Given the description of an element on the screen output the (x, y) to click on. 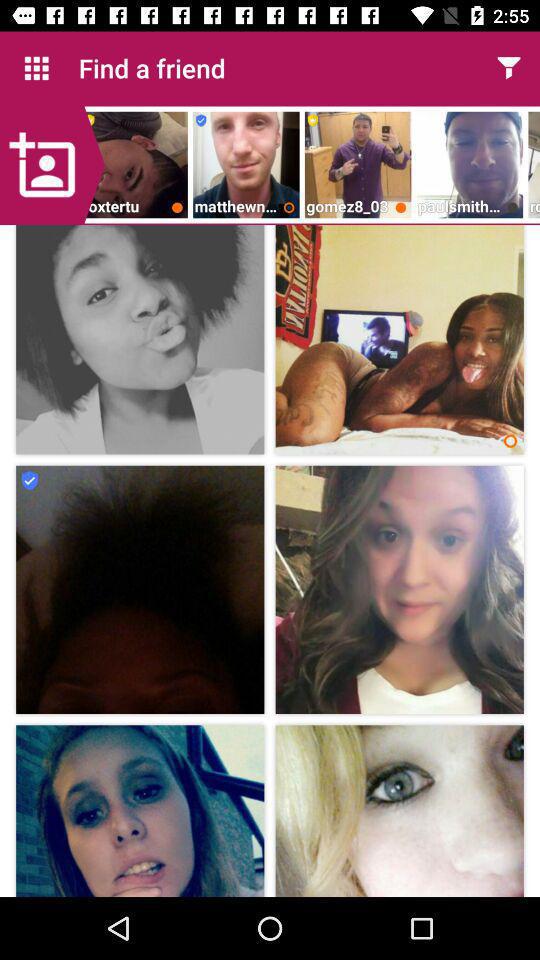
add friend (52, 165)
